Given the description of an element on the screen output the (x, y) to click on. 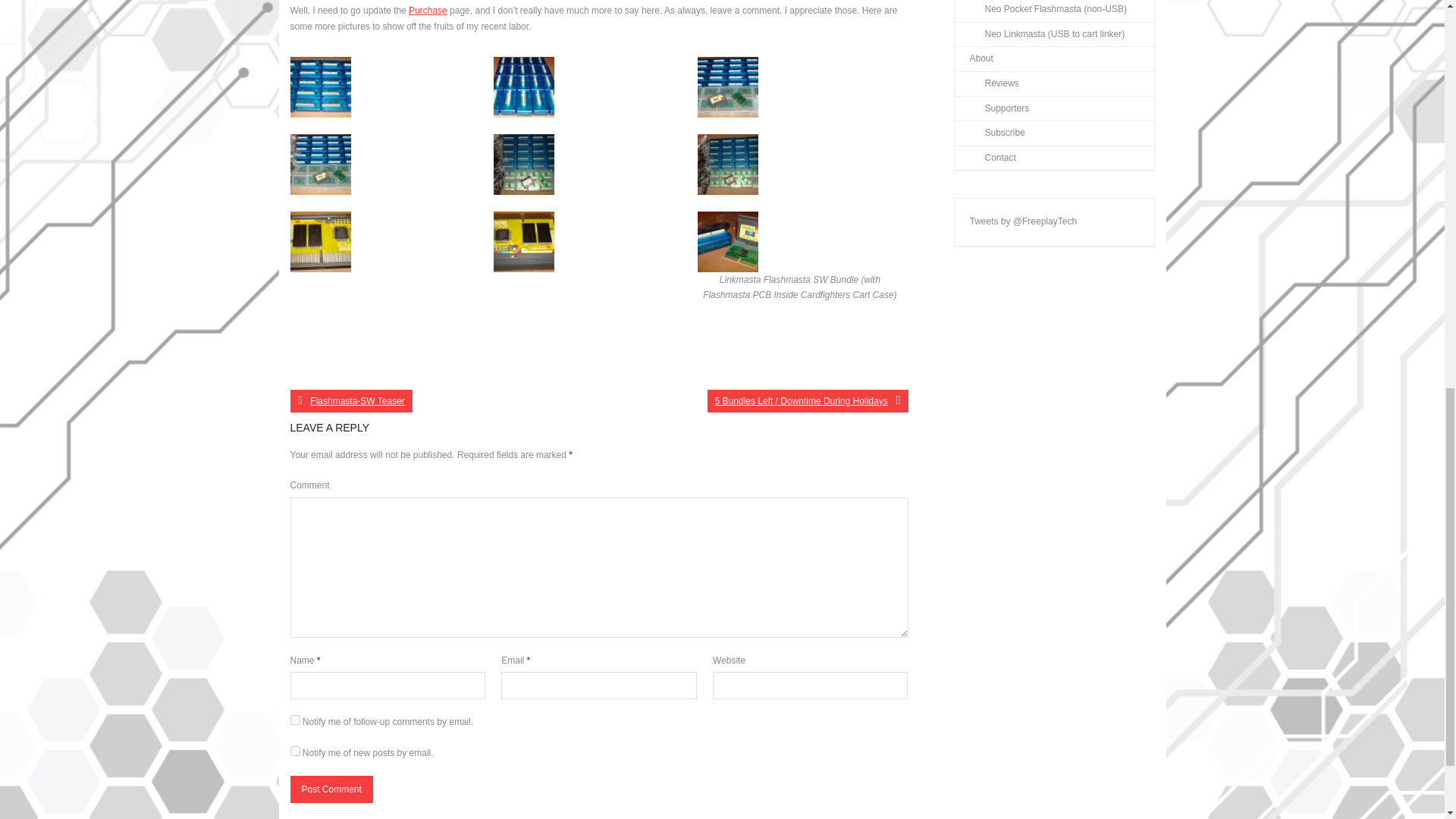
Purchase (427, 9)
subscribe (294, 719)
Post Comment (330, 789)
subscribe (294, 750)
